Given the description of an element on the screen output the (x, y) to click on. 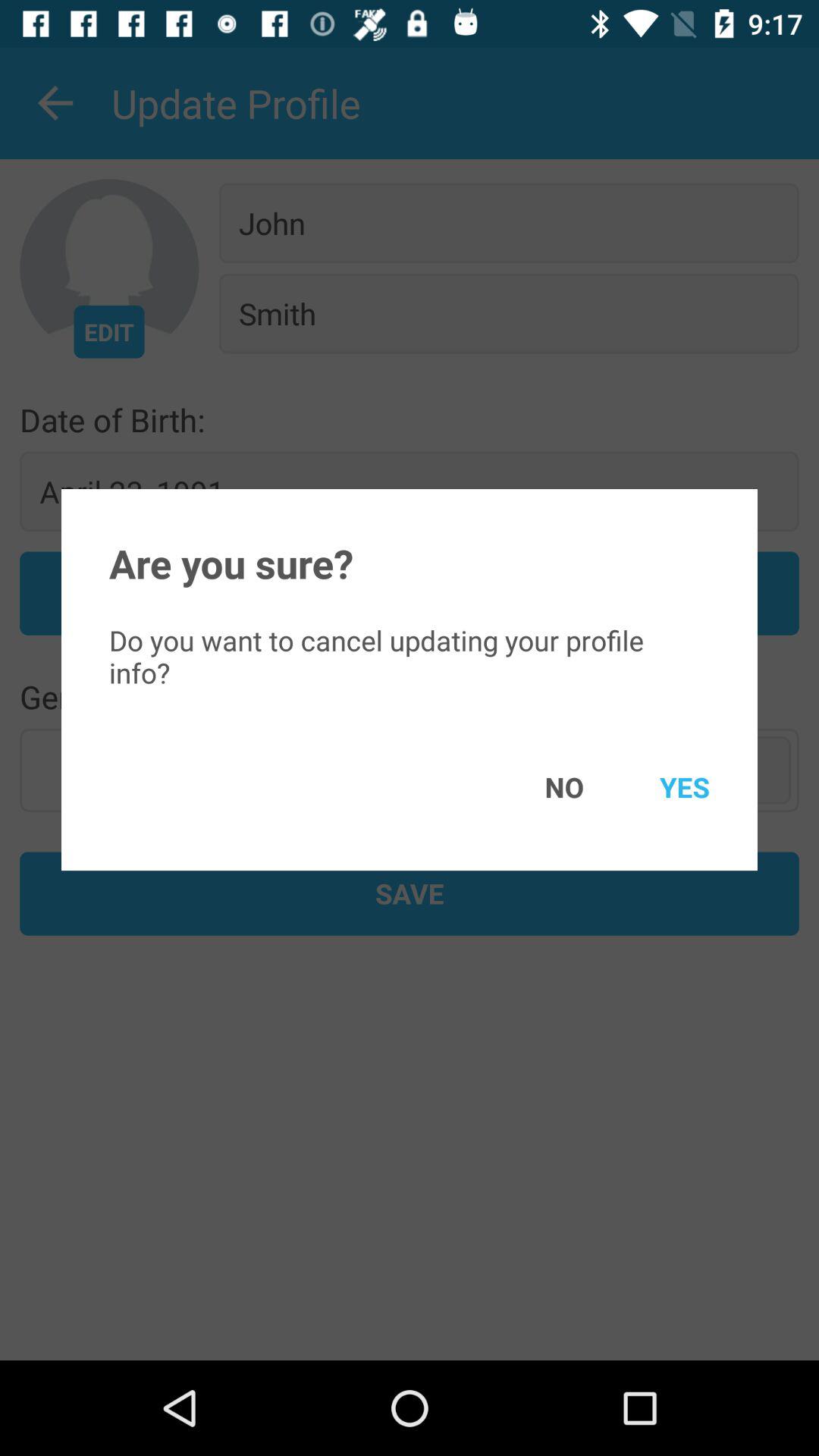
choose icon below the do you want item (662, 786)
